Given the description of an element on the screen output the (x, y) to click on. 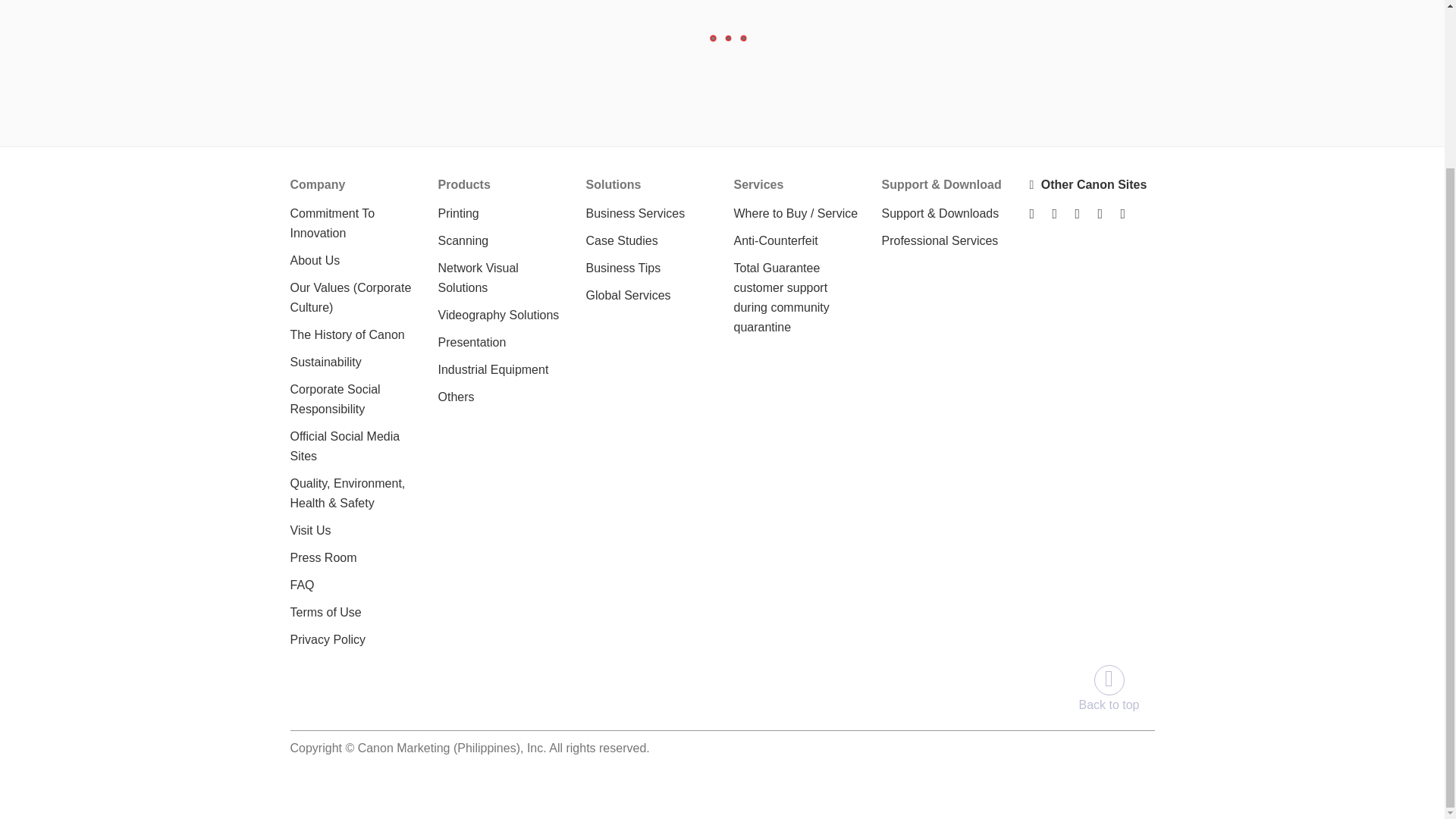
About Us (314, 259)
Network Visual Solutions (478, 277)
Visit Us (309, 530)
Terms of Use (325, 612)
Videography Solutions (498, 314)
Sustainability (325, 361)
Privacy Policy (327, 639)
Printing (458, 213)
Scanning (463, 240)
The History of Canon (346, 334)
